Given the description of an element on the screen output the (x, y) to click on. 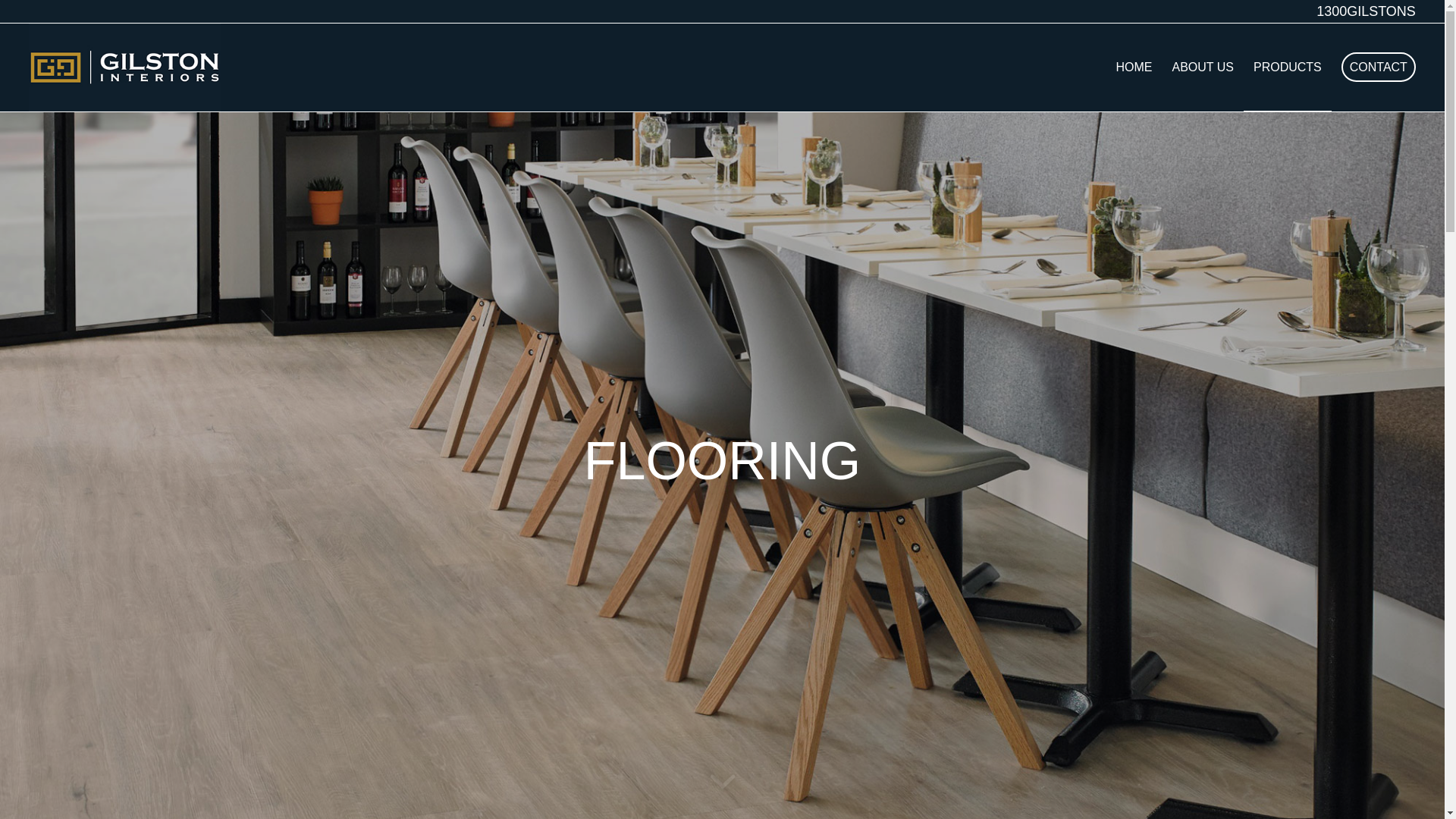
PRODUCTS Element type: text (1287, 67)
ABOUT US Element type: text (1202, 67)
HOME Element type: text (1133, 67)
1300GILSTONS Element type: text (1365, 10)
CONTACT Element type: text (1373, 67)
